Given the description of an element on the screen output the (x, y) to click on. 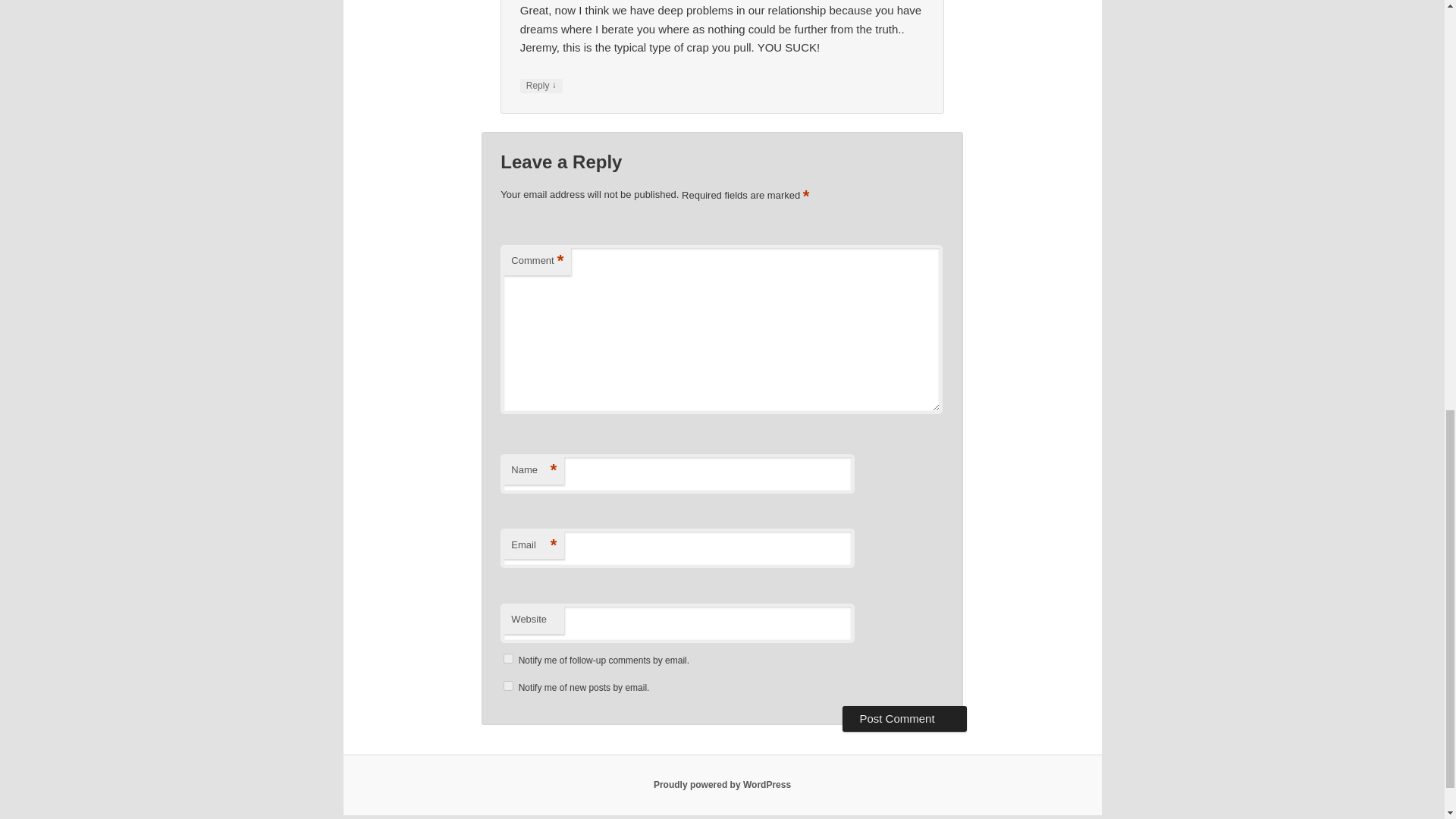
Post Comment (904, 718)
Semantic Personal Publishing Platform (721, 784)
subscribe (508, 685)
Proudly powered by WordPress (721, 784)
Post Comment (904, 718)
subscribe (508, 658)
